Given the description of an element on the screen output the (x, y) to click on. 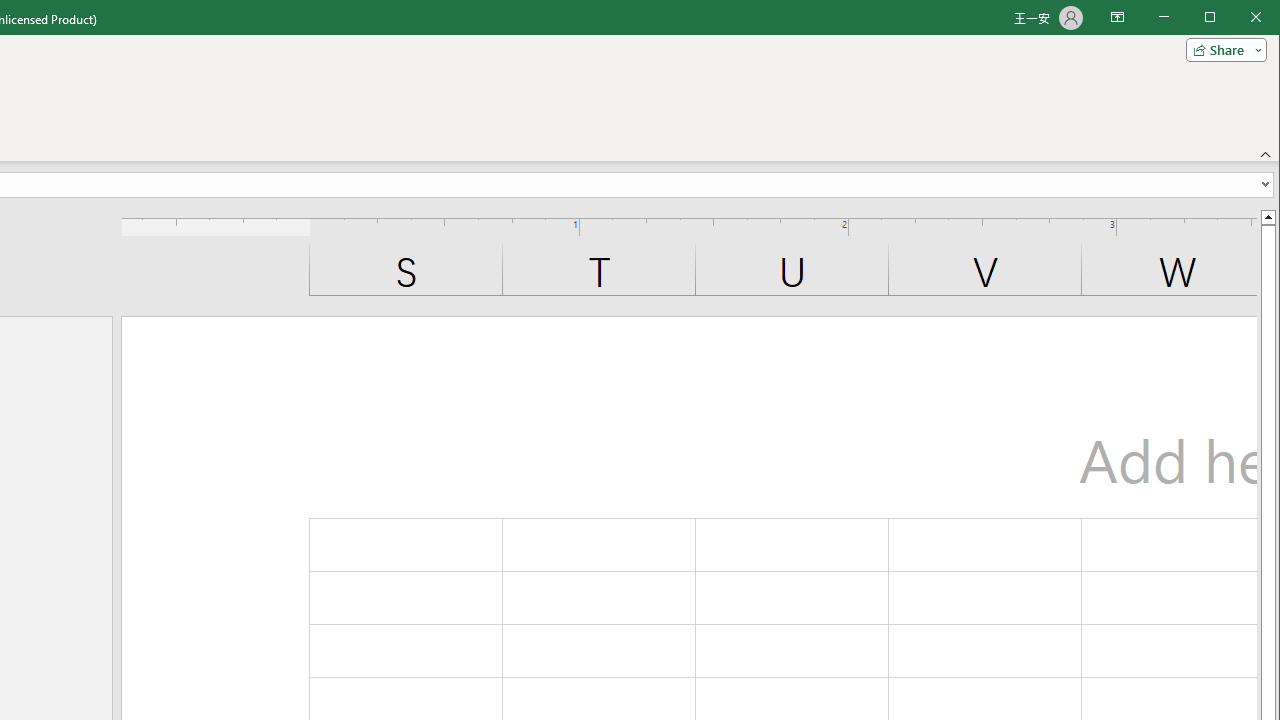
Maximize (1238, 18)
